Given the description of an element on the screen output the (x, y) to click on. 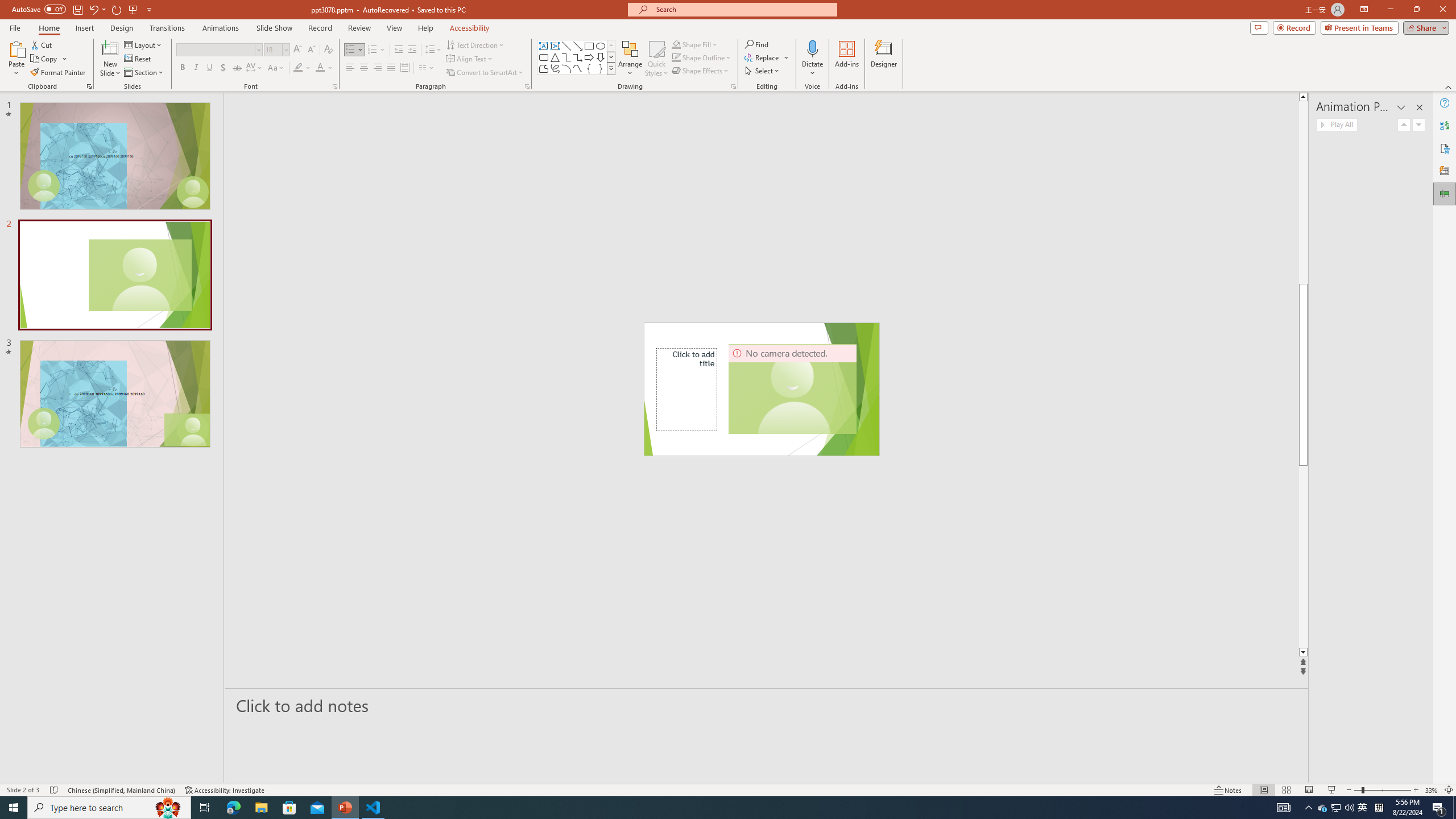
Play All (1336, 124)
